Given the description of an element on the screen output the (x, y) to click on. 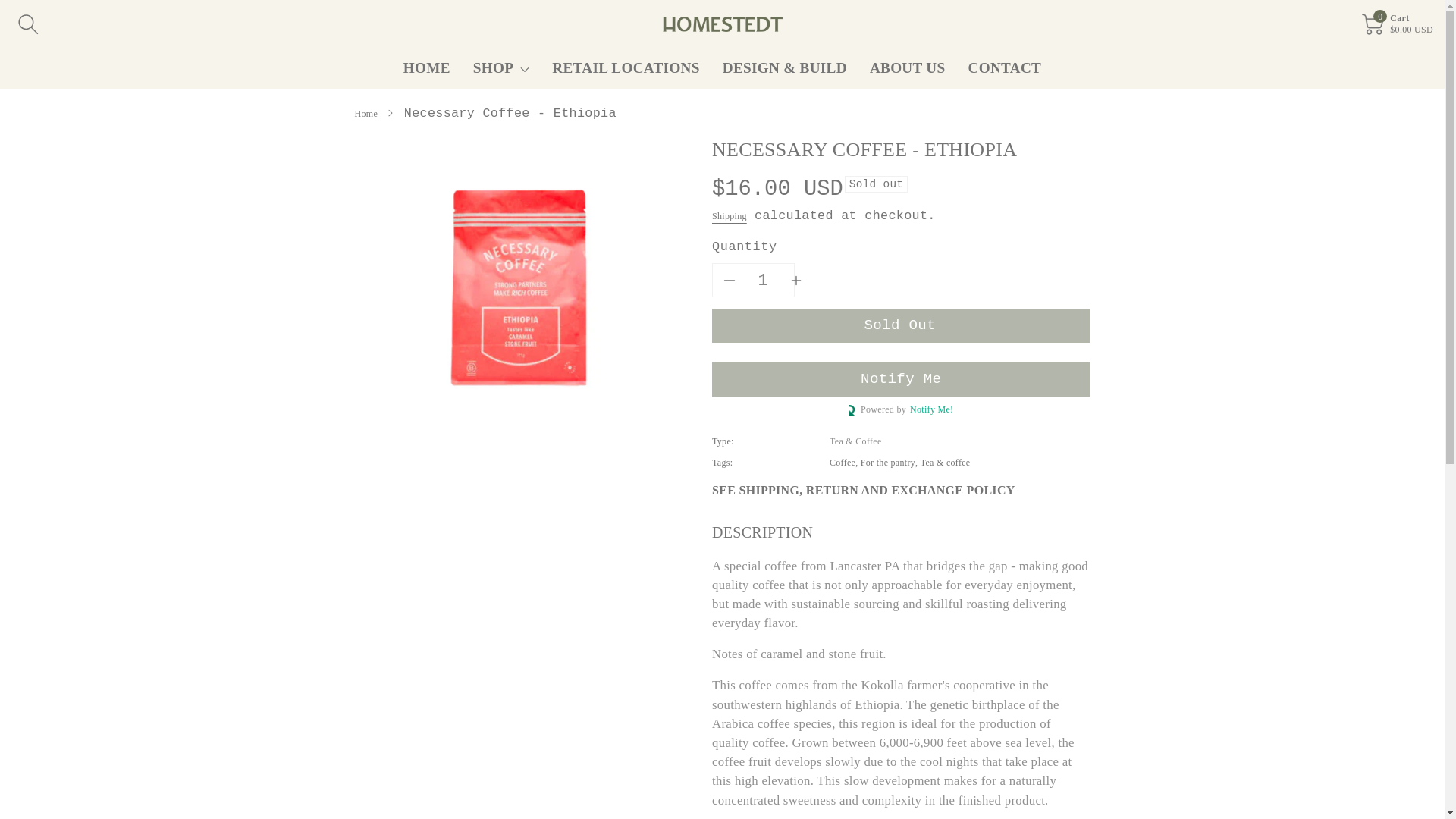
Home (366, 113)
1 (761, 279)
Homestedt Shipping and Returns (862, 490)
Skip To Content (8, 8)
